Given the description of an element on the screen output the (x, y) to click on. 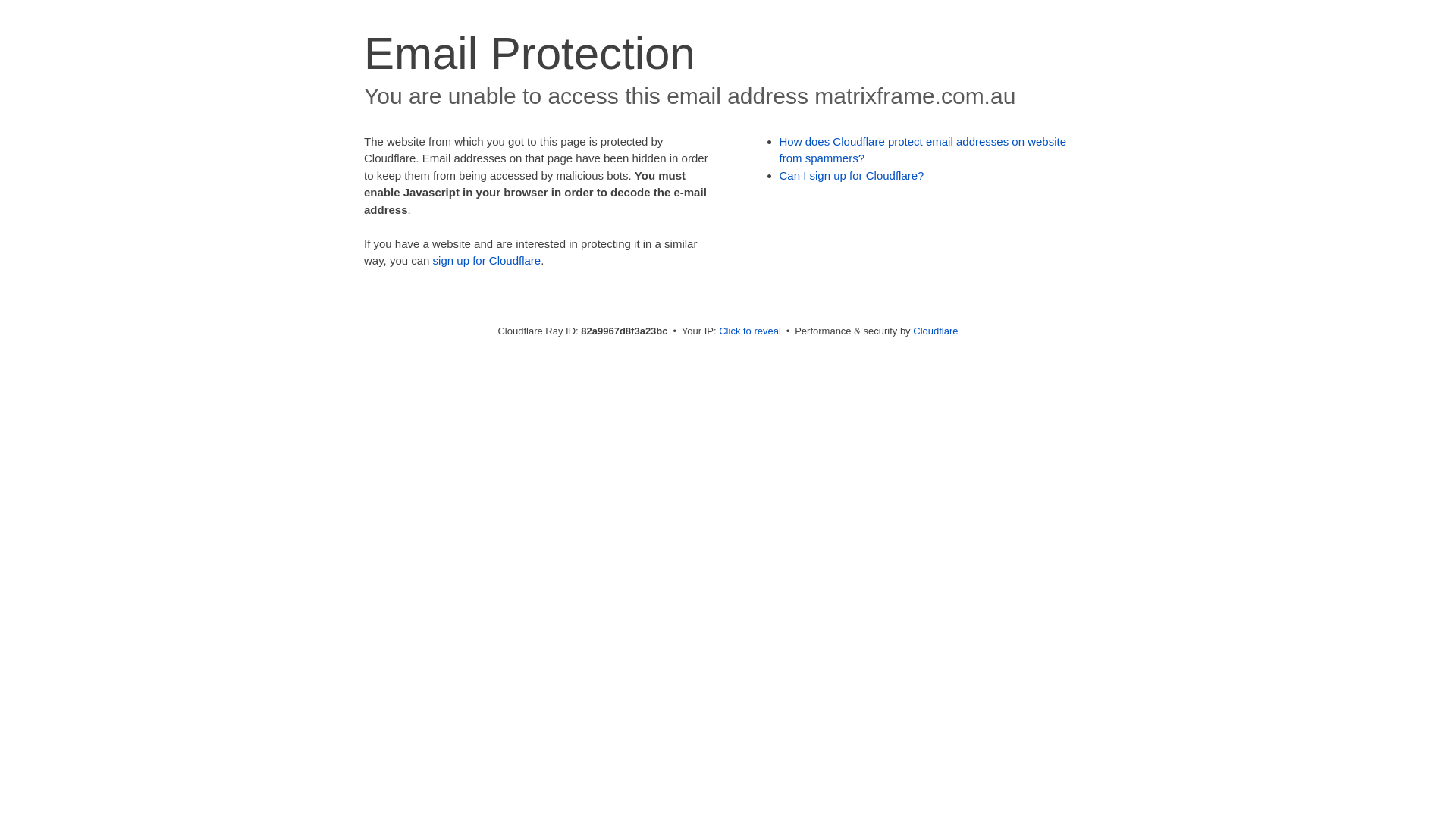
Cloudflare Element type: text (935, 330)
Click to reveal Element type: text (749, 330)
sign up for Cloudflare Element type: text (487, 260)
Can I sign up for Cloudflare? Element type: text (851, 175)
